Given the description of an element on the screen output the (x, y) to click on. 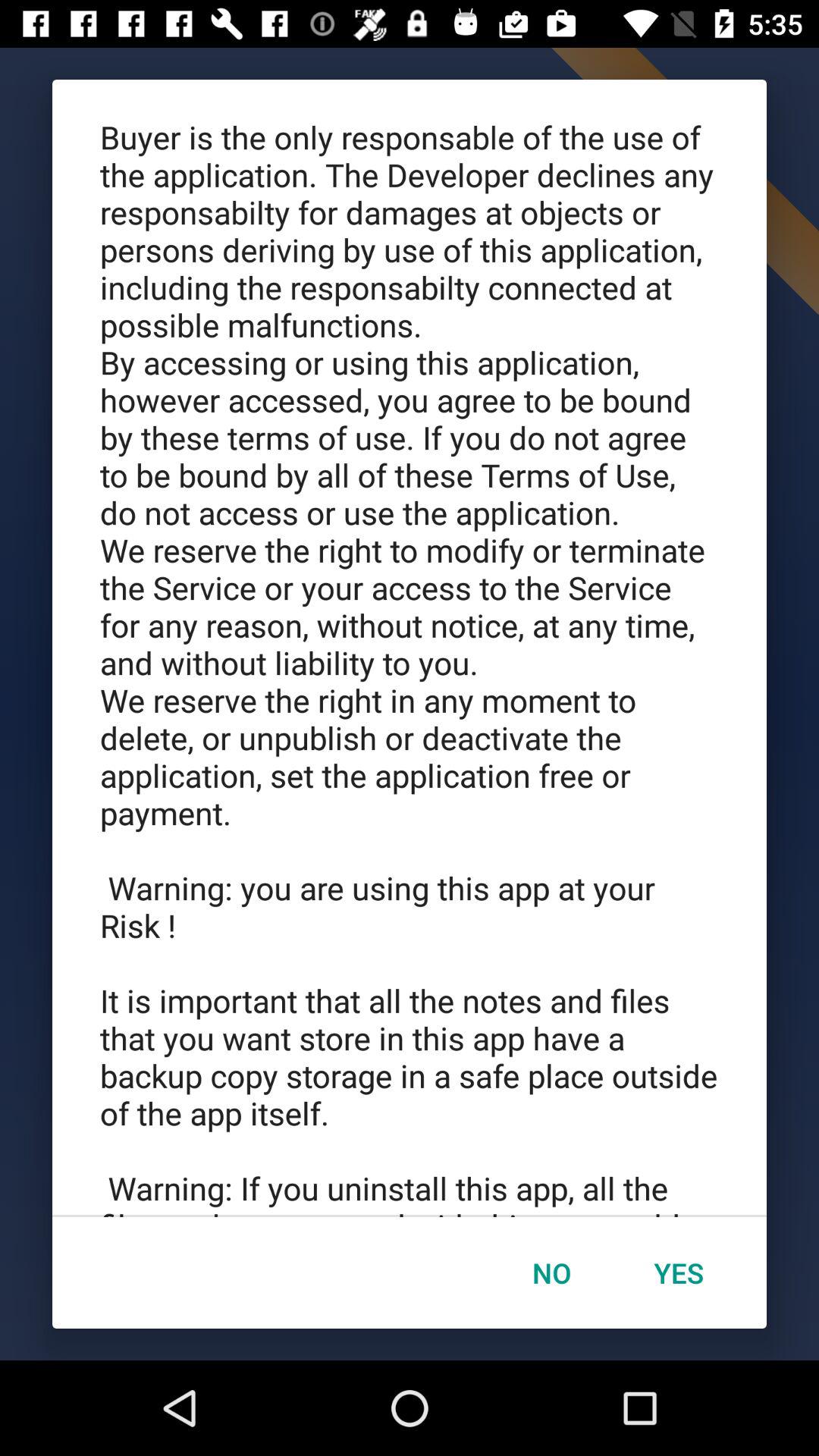
open icon below the buyer is the item (678, 1272)
